Given the description of an element on the screen output the (x, y) to click on. 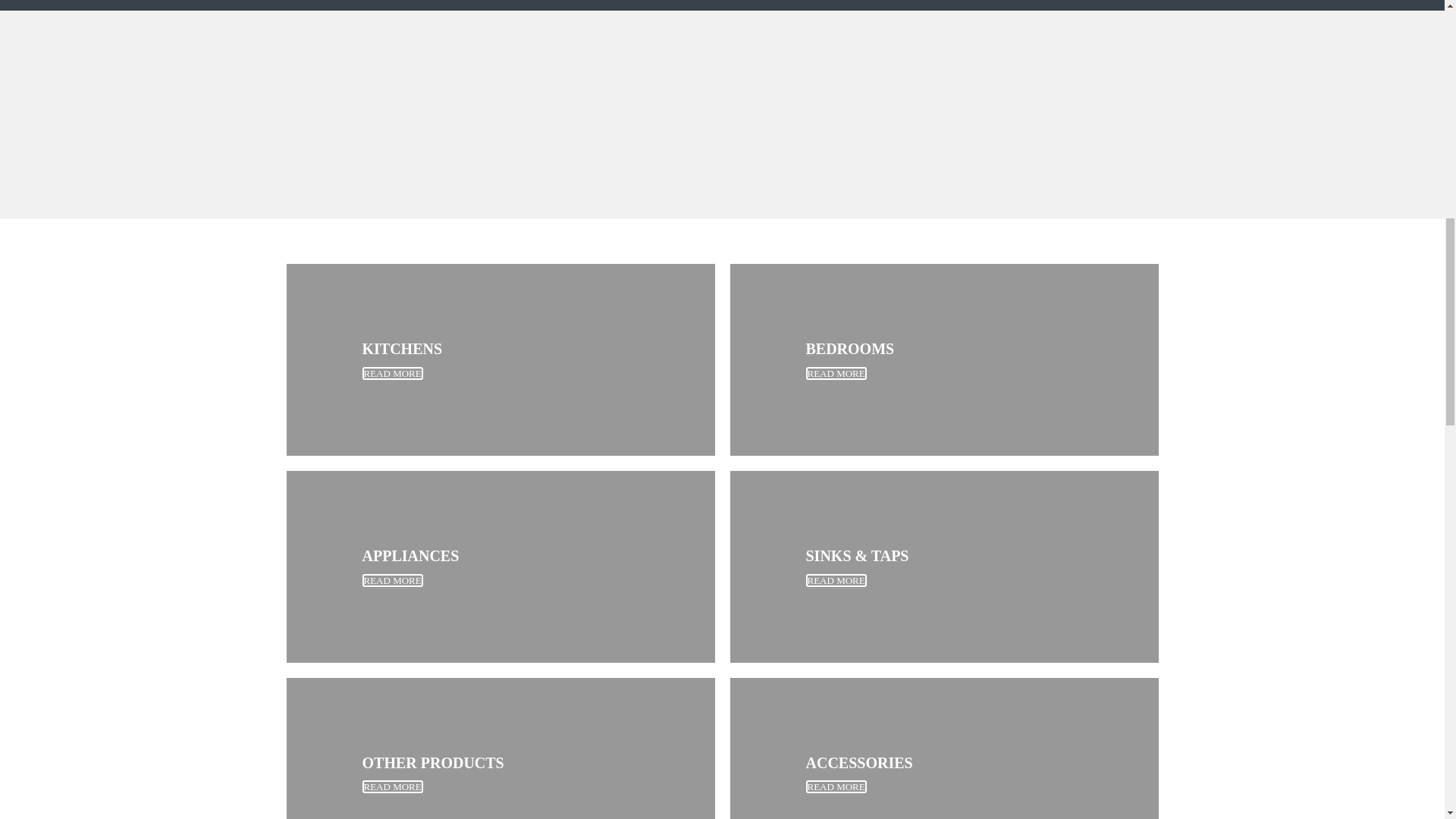
READ MORE (392, 580)
READ MORE (835, 580)
READ MORE (392, 373)
READ MORE (392, 786)
READ MORE (835, 373)
READ MORE (835, 786)
